Given the description of an element on the screen output the (x, y) to click on. 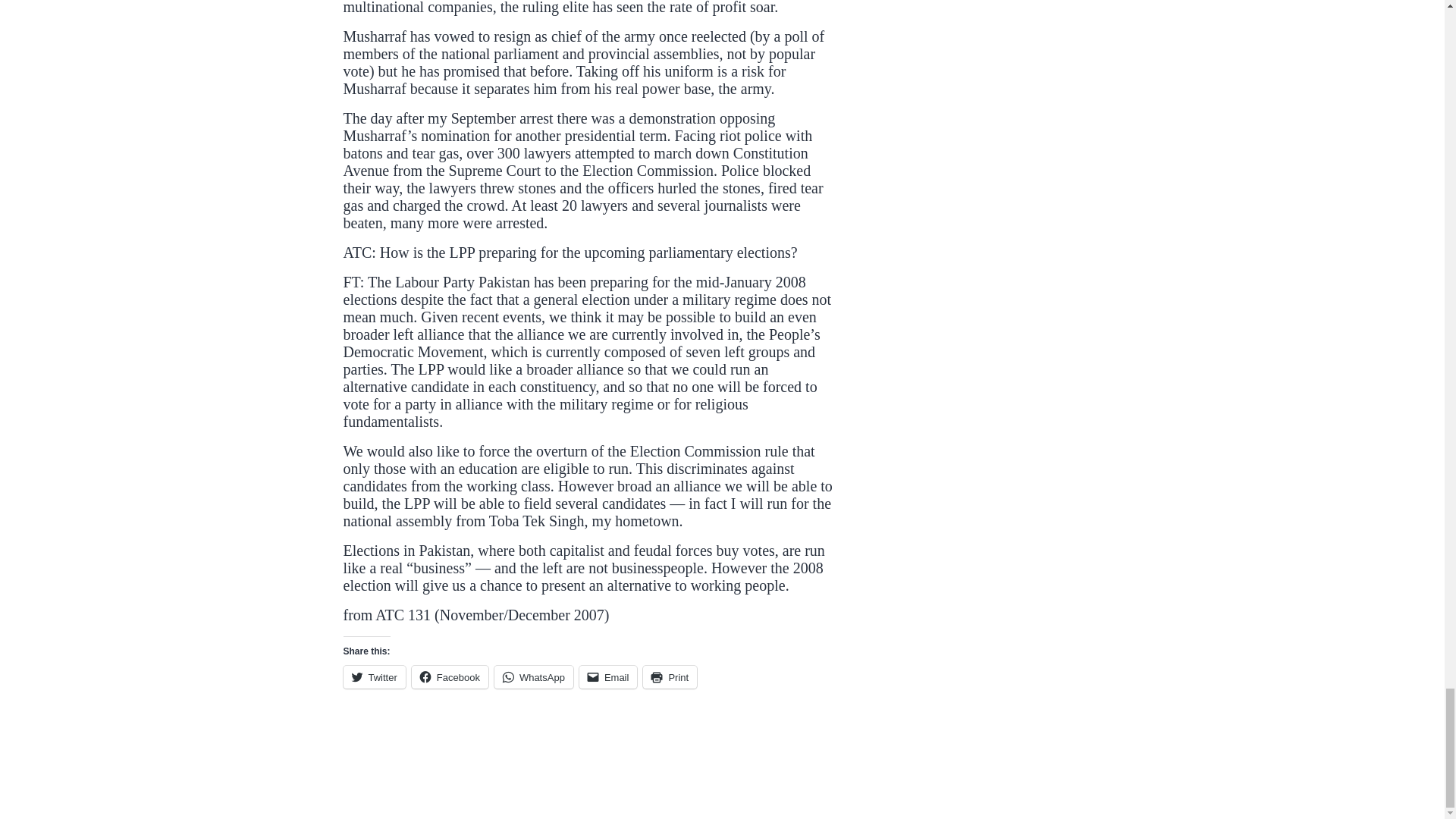
Click to share on Facebook (449, 676)
Click to print (670, 676)
Click to share on Twitter (373, 676)
Click to share on WhatsApp (534, 676)
Click to email a link to a friend (608, 676)
